Given the description of an element on the screen output the (x, y) to click on. 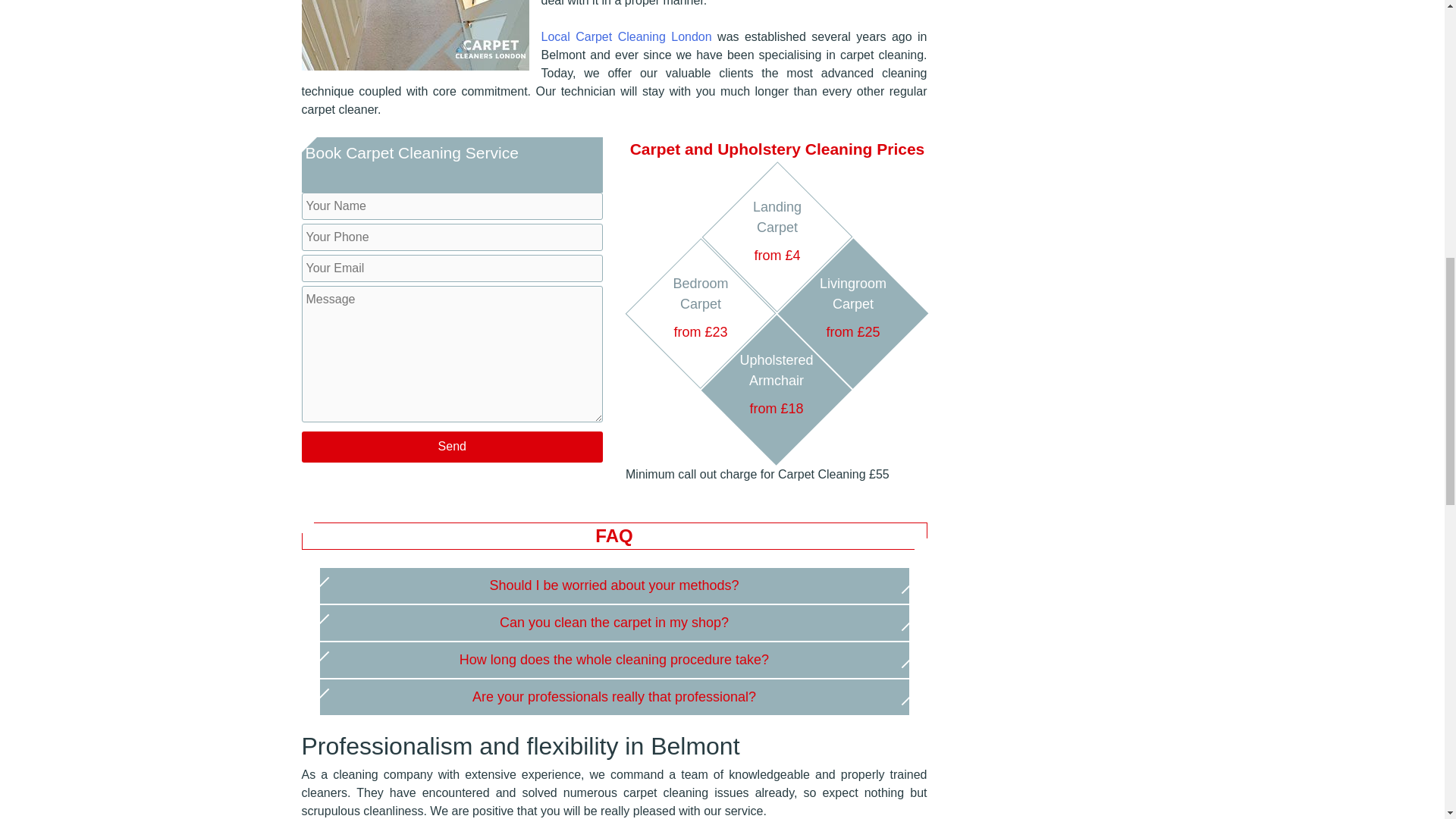
Local Carpet Cleaning London (626, 36)
Send (452, 446)
Send (452, 446)
